Given the description of an element on the screen output the (x, y) to click on. 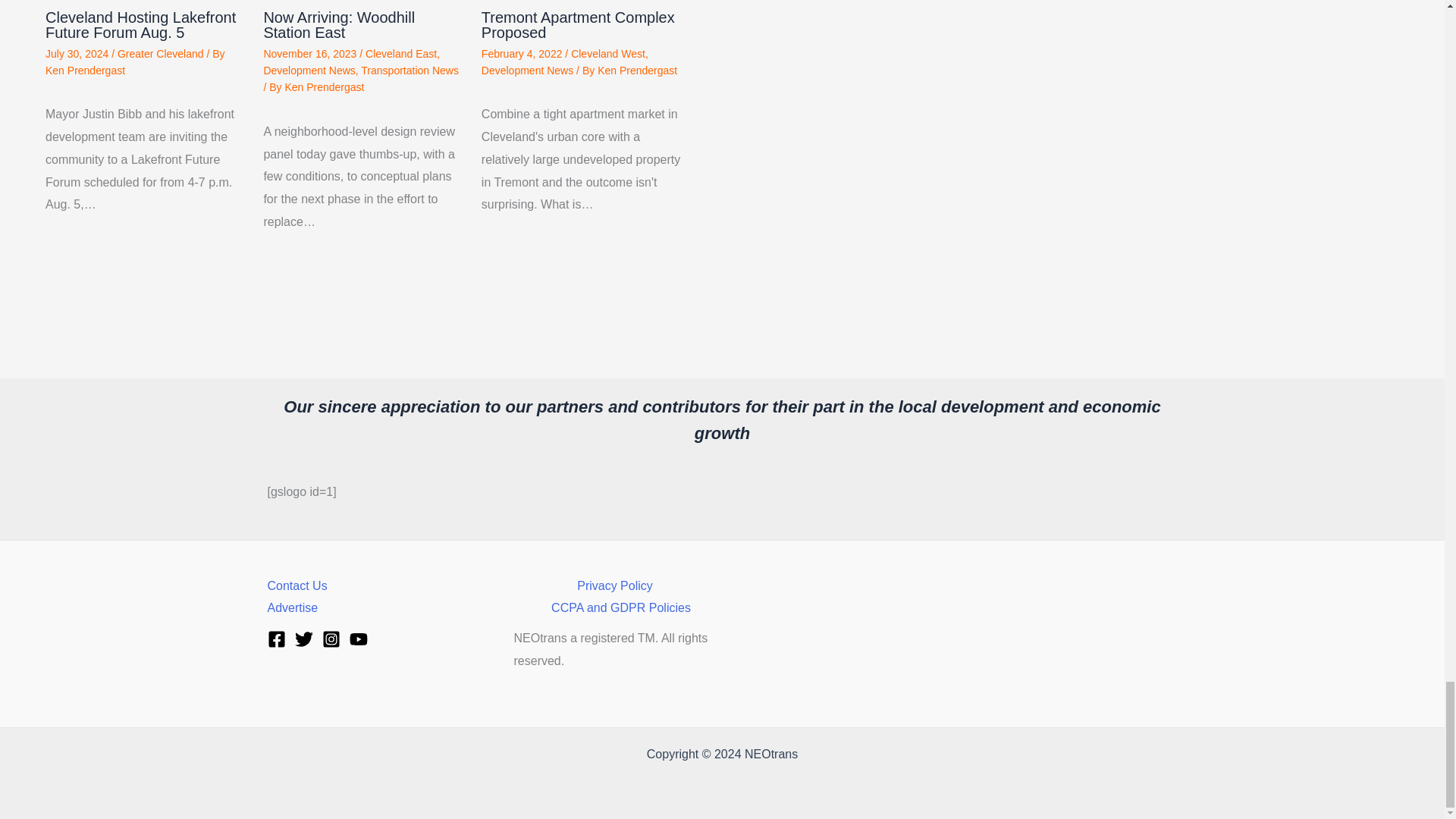
View all posts by Ken Prendergast (636, 70)
View all posts by Ken Prendergast (85, 70)
View all posts by Ken Prendergast (323, 87)
